Given the description of an element on the screen output the (x, y) to click on. 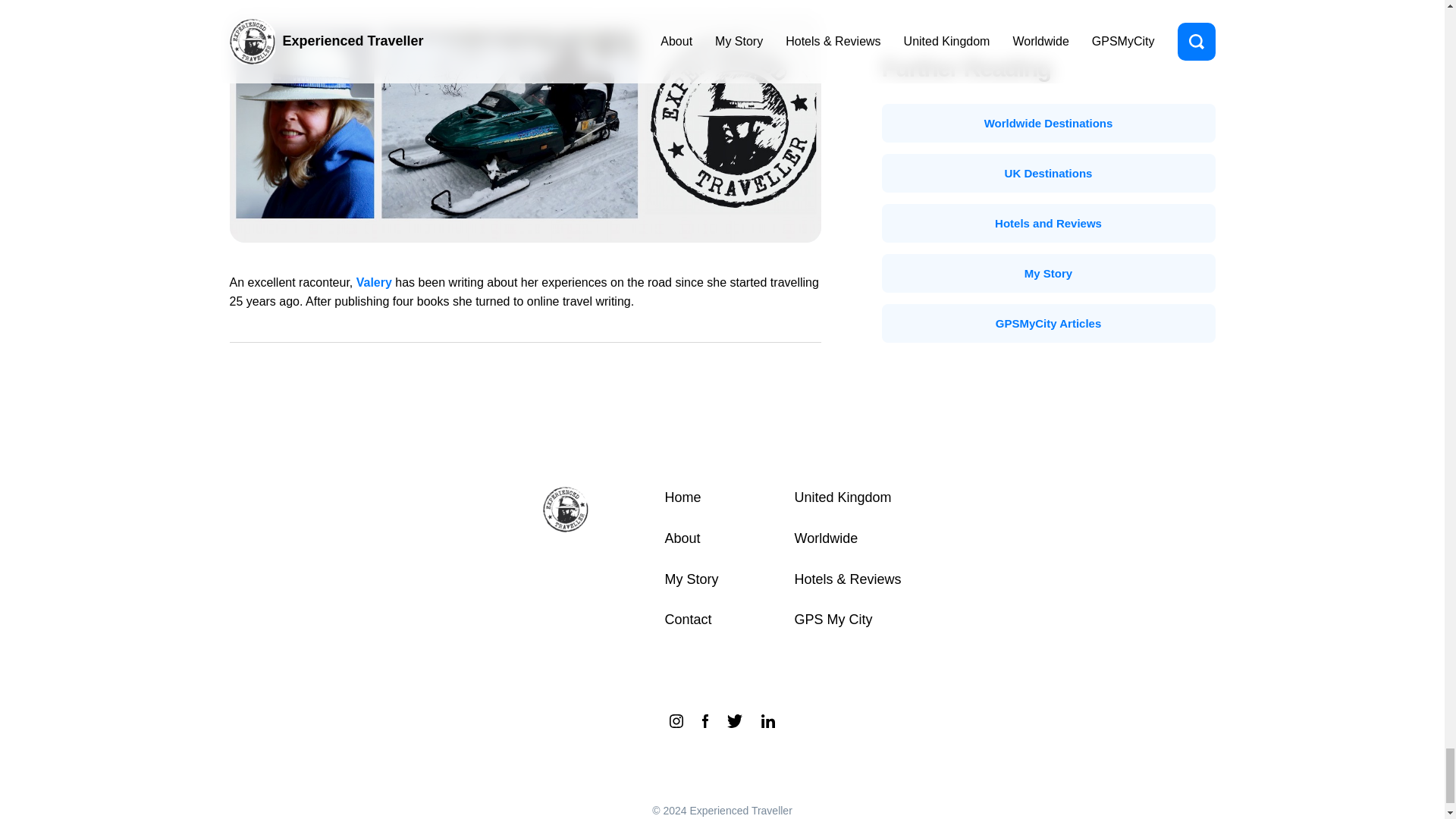
United Kingdom (842, 497)
Valery (373, 282)
About (681, 538)
My Story (690, 579)
Home (681, 497)
Contact (687, 619)
GPS My City (832, 619)
Worldwide (825, 538)
